Given the description of an element on the screen output the (x, y) to click on. 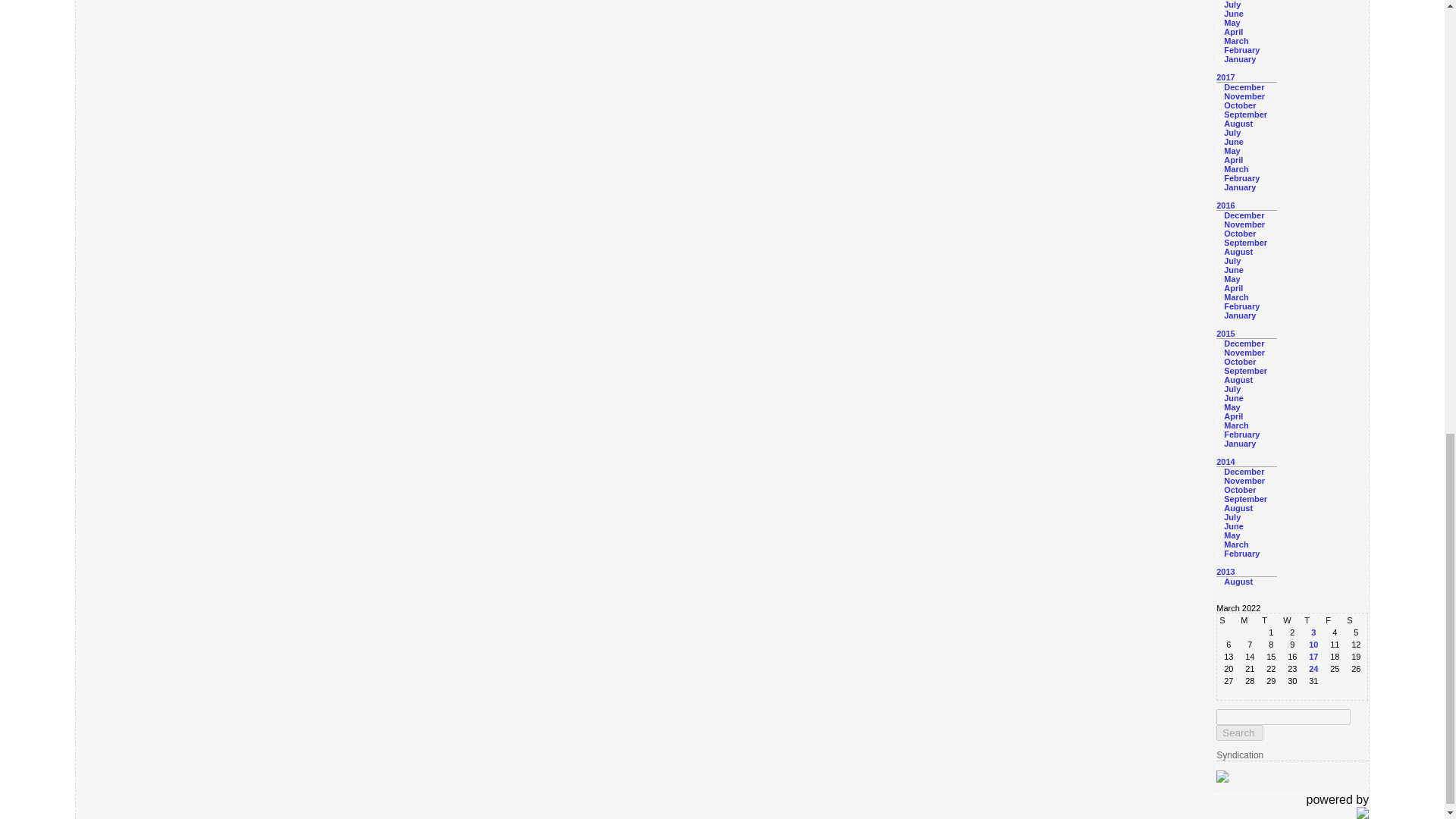
Thursday (1313, 620)
Search  (1239, 732)
Friday (1333, 620)
Saturday (1355, 620)
Tuesday (1270, 620)
Wednesday (1291, 620)
Monday (1249, 620)
Sunday (1228, 620)
